Given the description of an element on the screen output the (x, y) to click on. 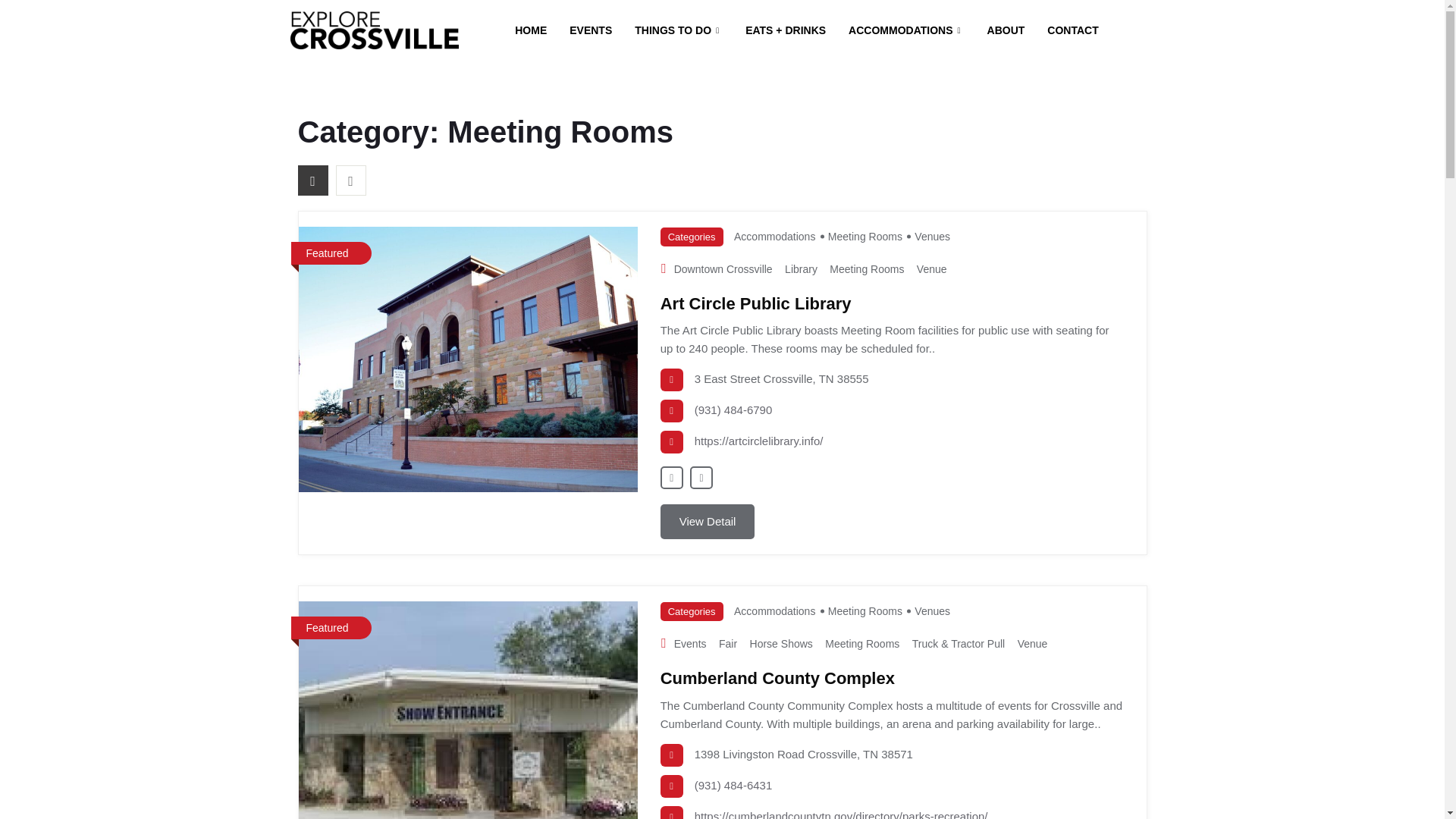
Venues (932, 236)
ABOUT (1005, 30)
Venue (932, 268)
THINGS TO DO (678, 30)
HOME (530, 30)
View Detail (708, 521)
Library (800, 268)
Accommodations (774, 611)
Downtown Crossville (723, 268)
Meeting Rooms (866, 268)
